Given the description of an element on the screen output the (x, y) to click on. 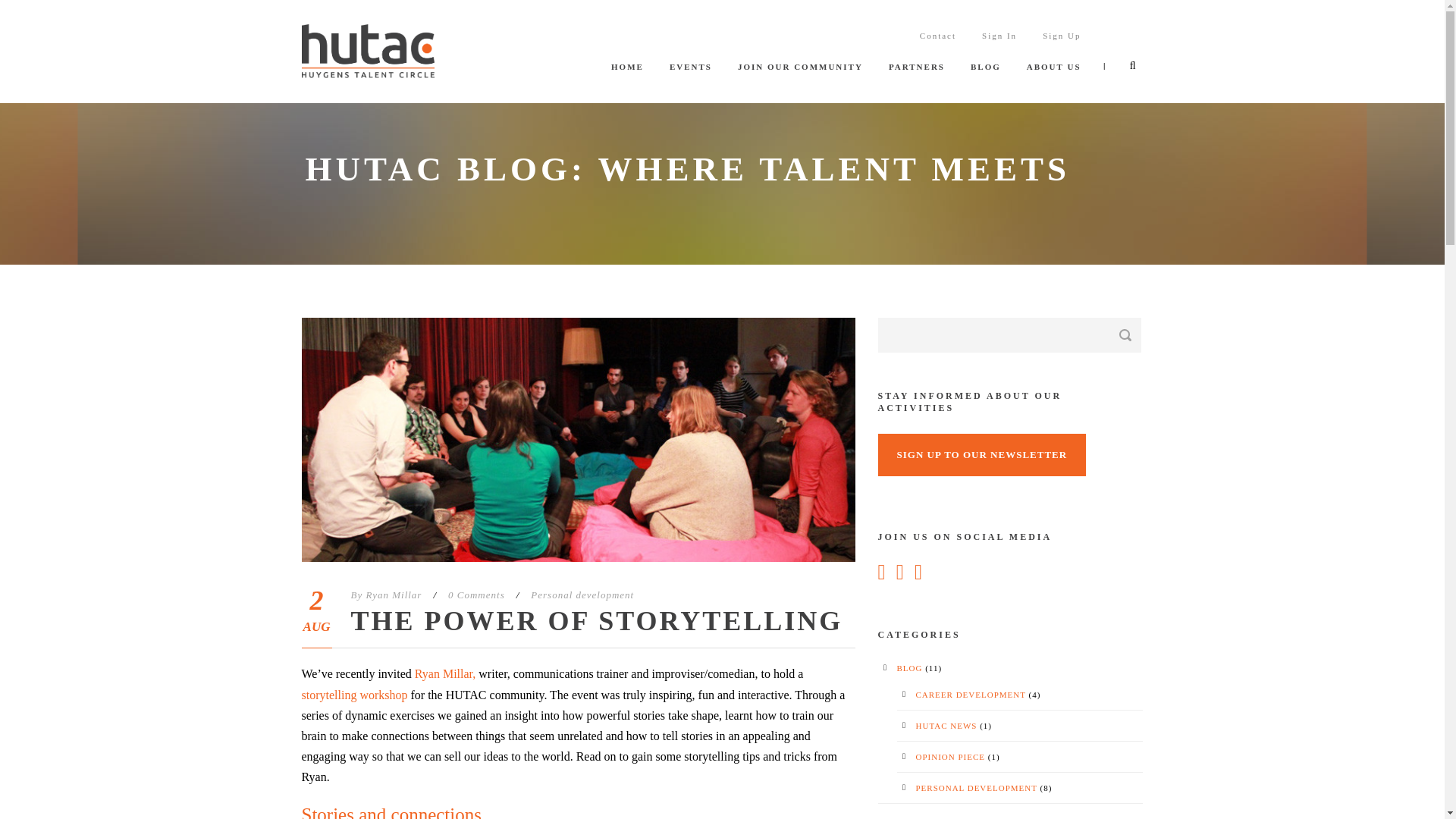
Millar, Ryan (445, 673)
Sign Up (1061, 49)
PARTNERS (916, 81)
Storytelling as Never before (354, 694)
EVENTS (690, 81)
Posts by Ryan Millar (393, 594)
ABOUT US (1053, 81)
Contact (938, 49)
Sign In (998, 49)
JOIN OUR COMMUNITY (800, 81)
